Given the description of an element on the screen output the (x, y) to click on. 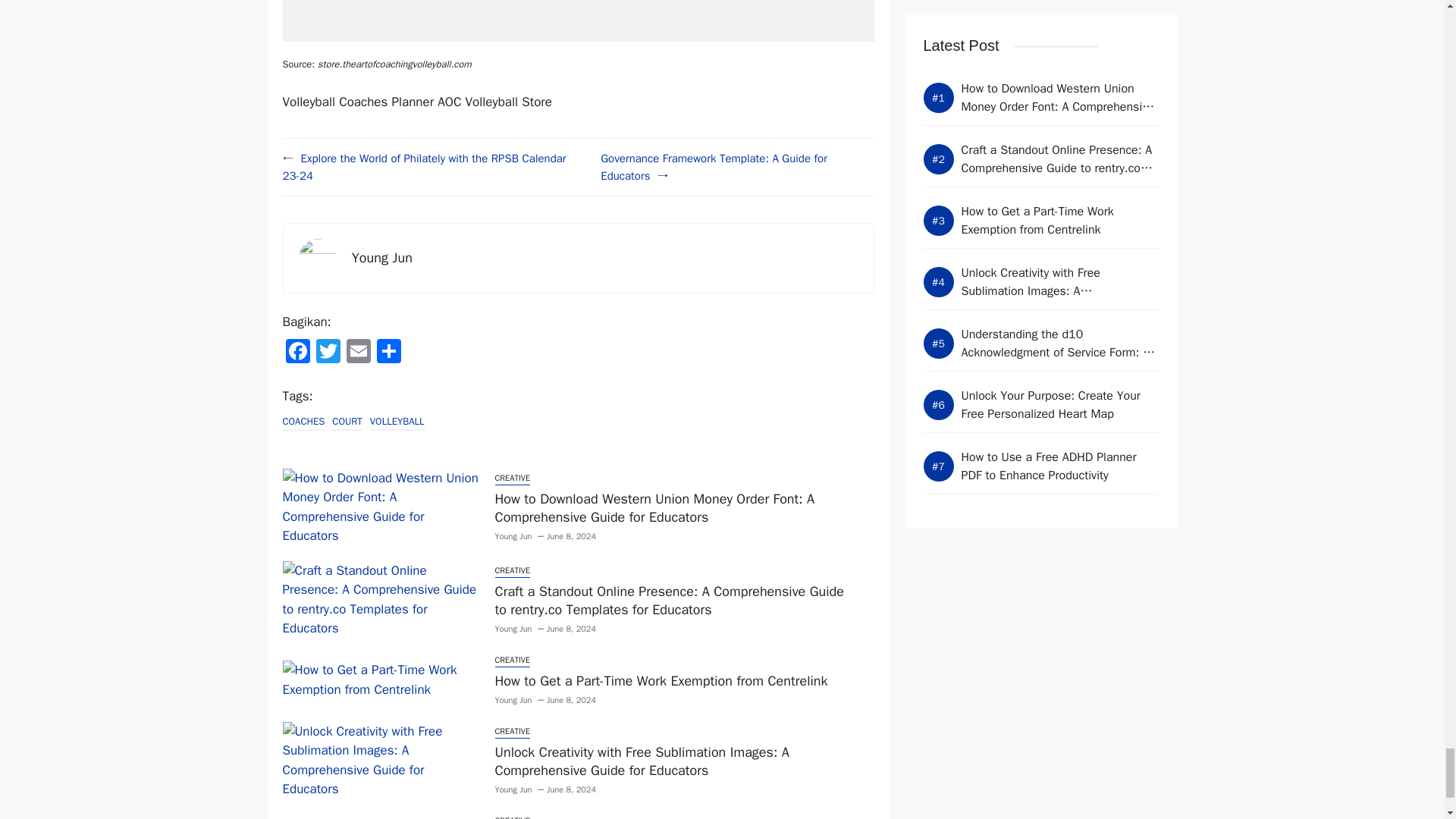
Governance Framework Template: A Guide for Educators (713, 166)
Facebook (297, 353)
Young Jun (513, 628)
COACHES (303, 422)
Twitter (327, 353)
CREATIVE (512, 478)
CREATIVE (512, 571)
Facebook (297, 353)
How to Get a Part-Time Work Exemption from Centrelink (661, 680)
Email (357, 353)
Email (357, 353)
COURT (346, 422)
Explore the World of Philately with the RPSB Calendar 23-24 (424, 166)
